Given the description of an element on the screen output the (x, y) to click on. 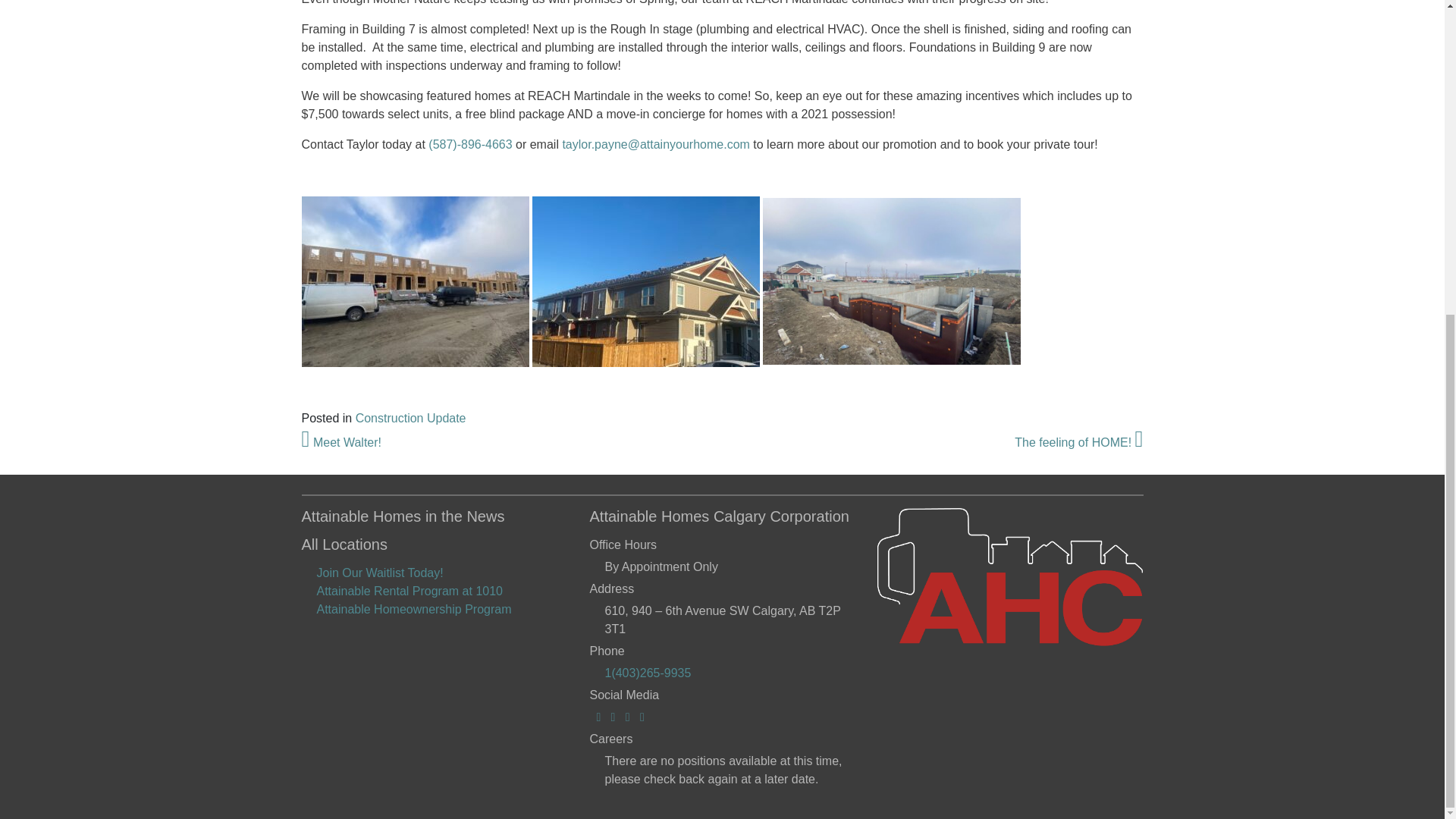
 Meet Walter! (341, 441)
Join Our Waitlist Today! (380, 572)
The feeling of HOME!  (1078, 441)
Construction Update (410, 418)
Attainable Rental Program at 1010 (409, 590)
Attainable Homeownership Program (414, 608)
